Given the description of an element on the screen output the (x, y) to click on. 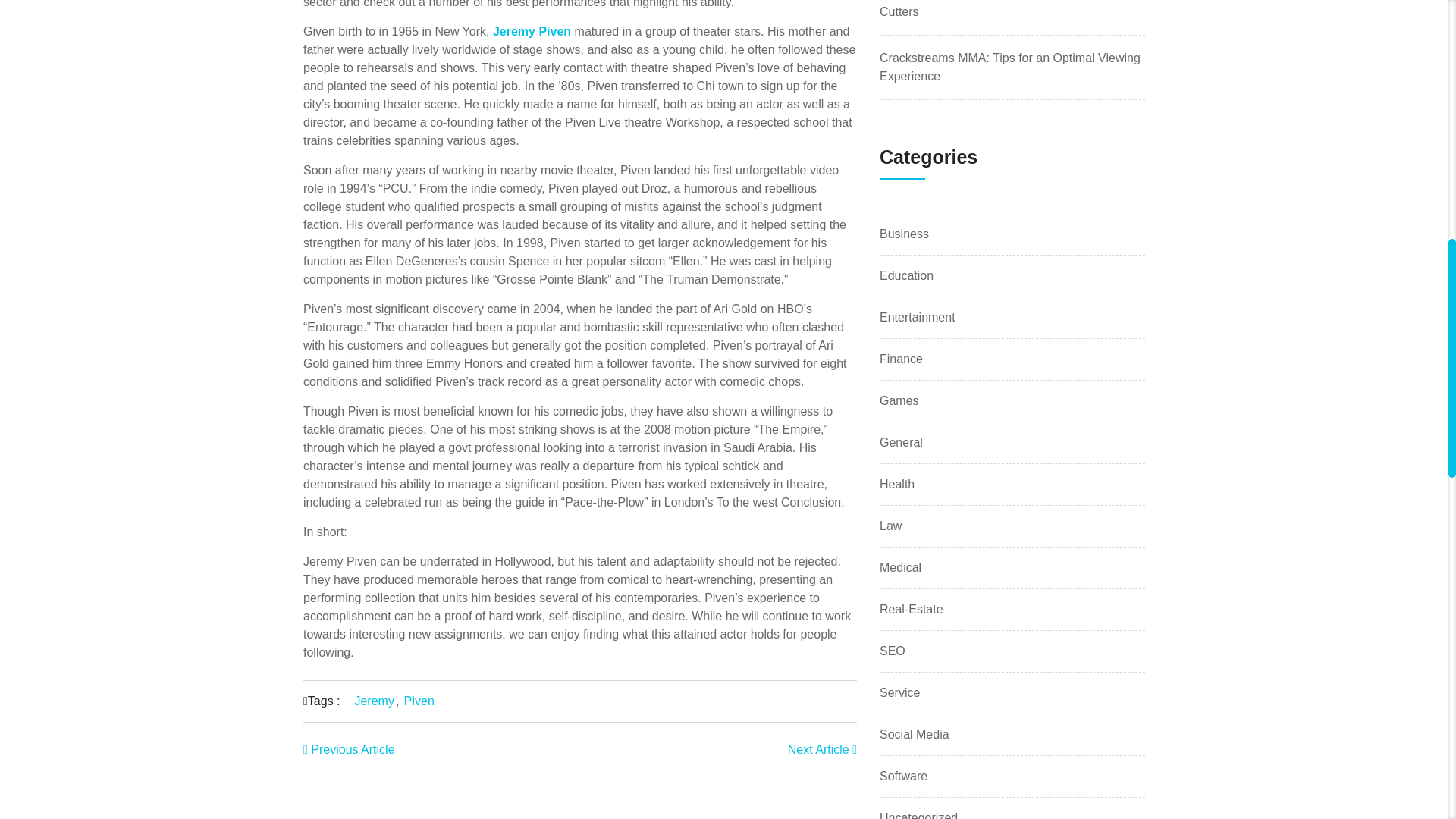
Real-Estate (911, 609)
SEO (892, 651)
Service (899, 692)
Next Article (822, 748)
General (901, 443)
How IPTV is Changing the Game for Cord-Cutters (994, 9)
Law (890, 525)
Uncategorized (918, 814)
Previous Article (348, 748)
Crackstreams MMA: Tips for an Optimal Viewing Experience (1009, 66)
Health (896, 484)
Entertainment (917, 317)
Business (903, 234)
Piven (418, 700)
Games (898, 401)
